Given the description of an element on the screen output the (x, y) to click on. 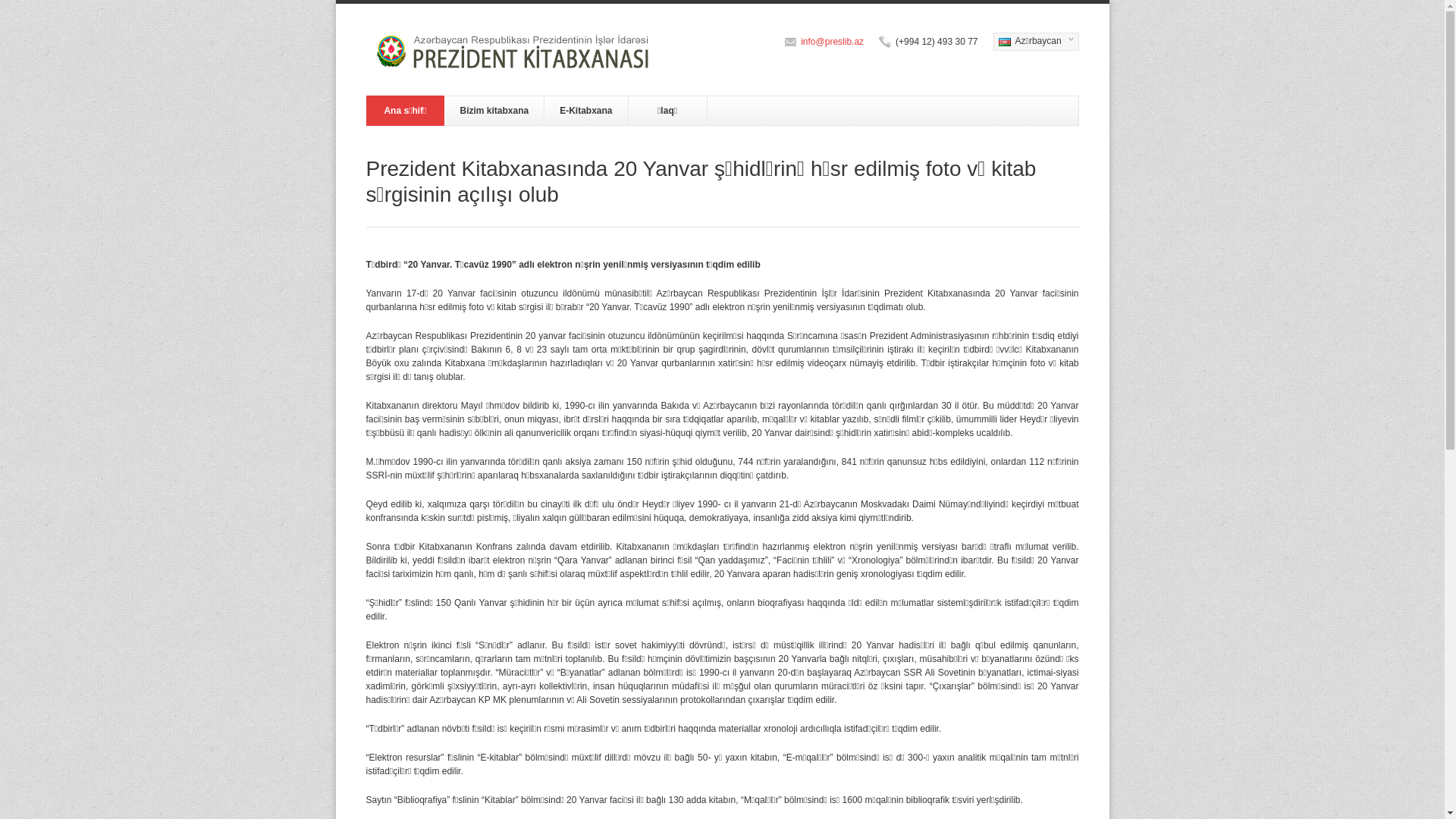
Bizim kitabxana Element type: text (494, 110)
E-Kitabxana Element type: text (585, 110)
info@preslib.az Element type: text (831, 41)
